Given the description of an element on the screen output the (x, y) to click on. 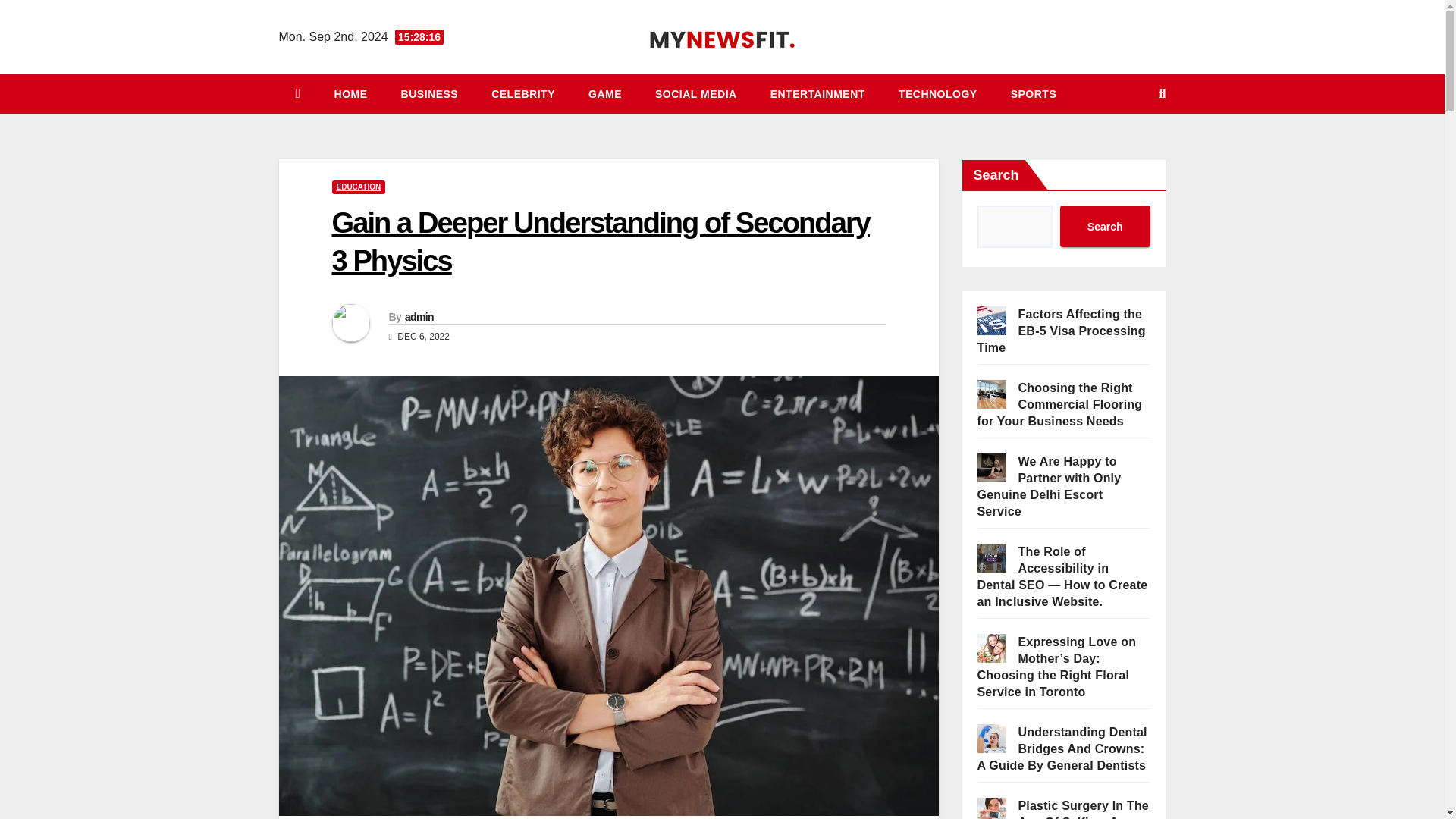
HOME (350, 93)
Technology (938, 93)
ENTERTAINMENT (818, 93)
admin (418, 316)
SOCIAL MEDIA (696, 93)
Business (430, 93)
TECHNOLOGY (938, 93)
Sports (1034, 93)
BUSINESS (430, 93)
